Given the description of an element on the screen output the (x, y) to click on. 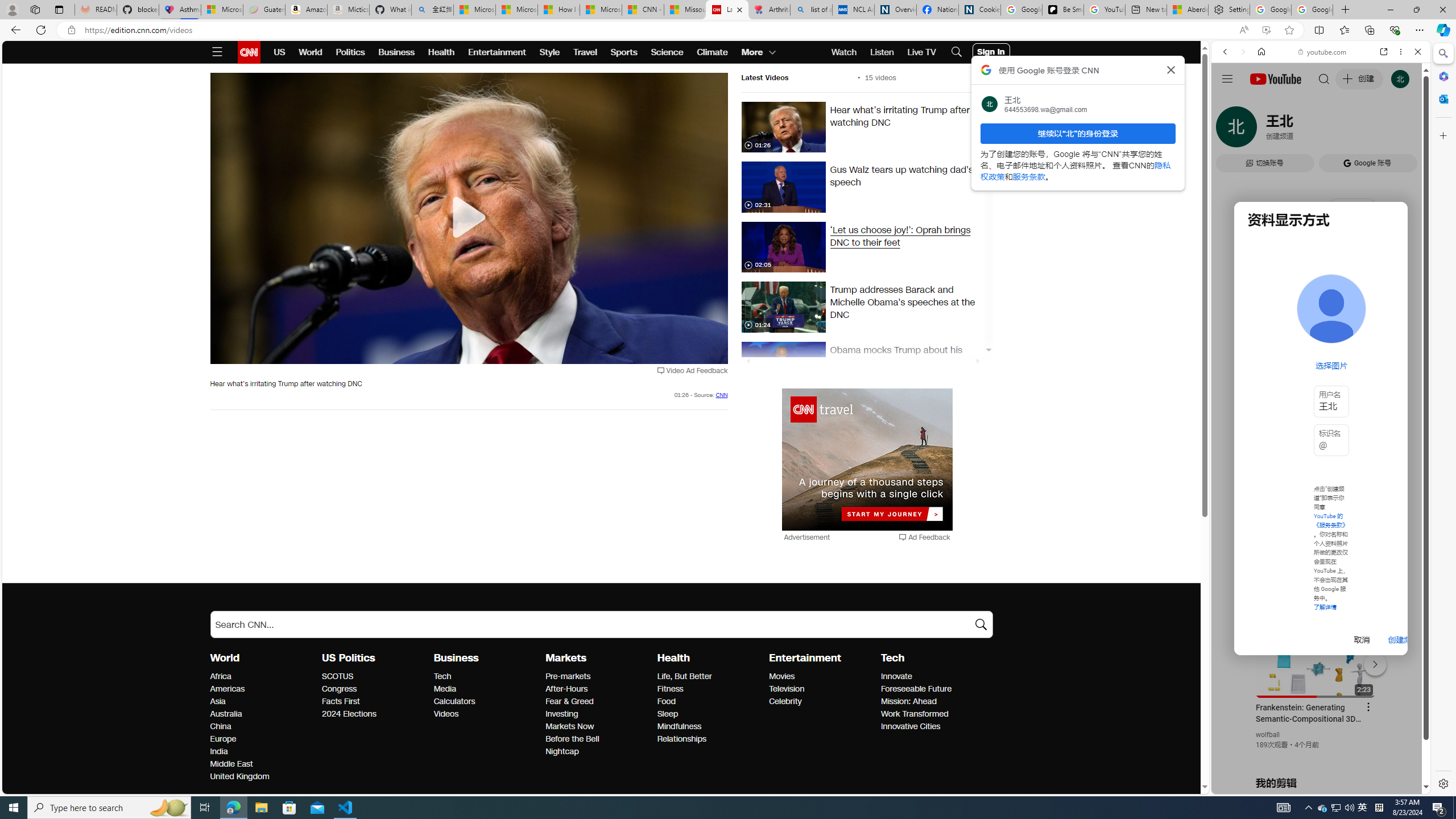
Tech Innovative Cities (910, 726)
Trailer #2 [HD] (1320, 337)
Be Smart | creating Science videos | Patreon (1062, 9)
User Account Log In Button (991, 52)
Business Media (445, 688)
US PoliticsSCOTUSCongressFacts First2024 Elections (377, 685)
World China (220, 726)
EntertainmentMoviesTelevisionCelebrity (824, 678)
Food (709, 701)
Markets Investing (562, 713)
Markets (566, 657)
